Given the description of an element on the screen output the (x, y) to click on. 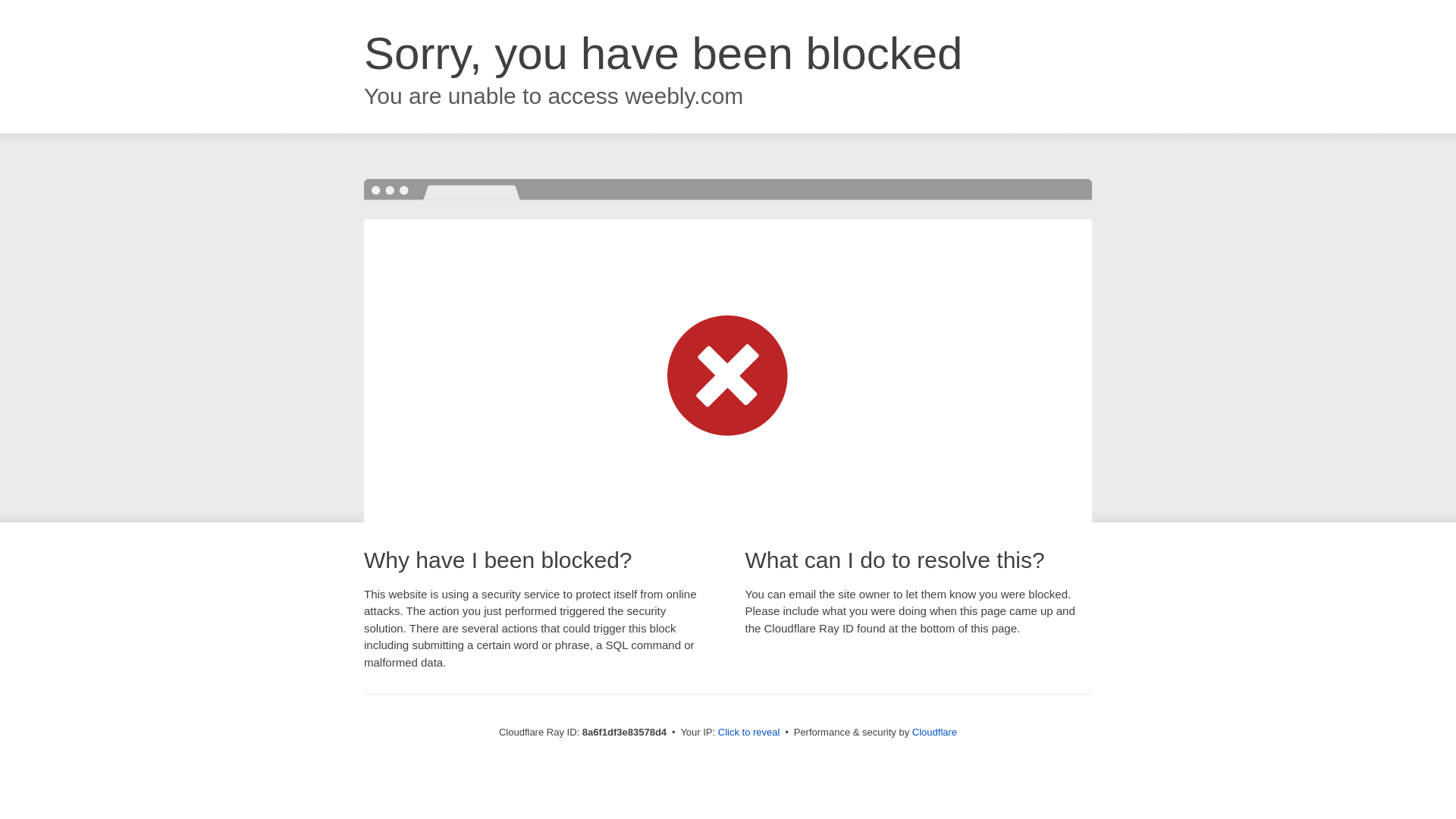
Click to reveal (748, 732)
Cloudflare (934, 731)
